Given the description of an element on the screen output the (x, y) to click on. 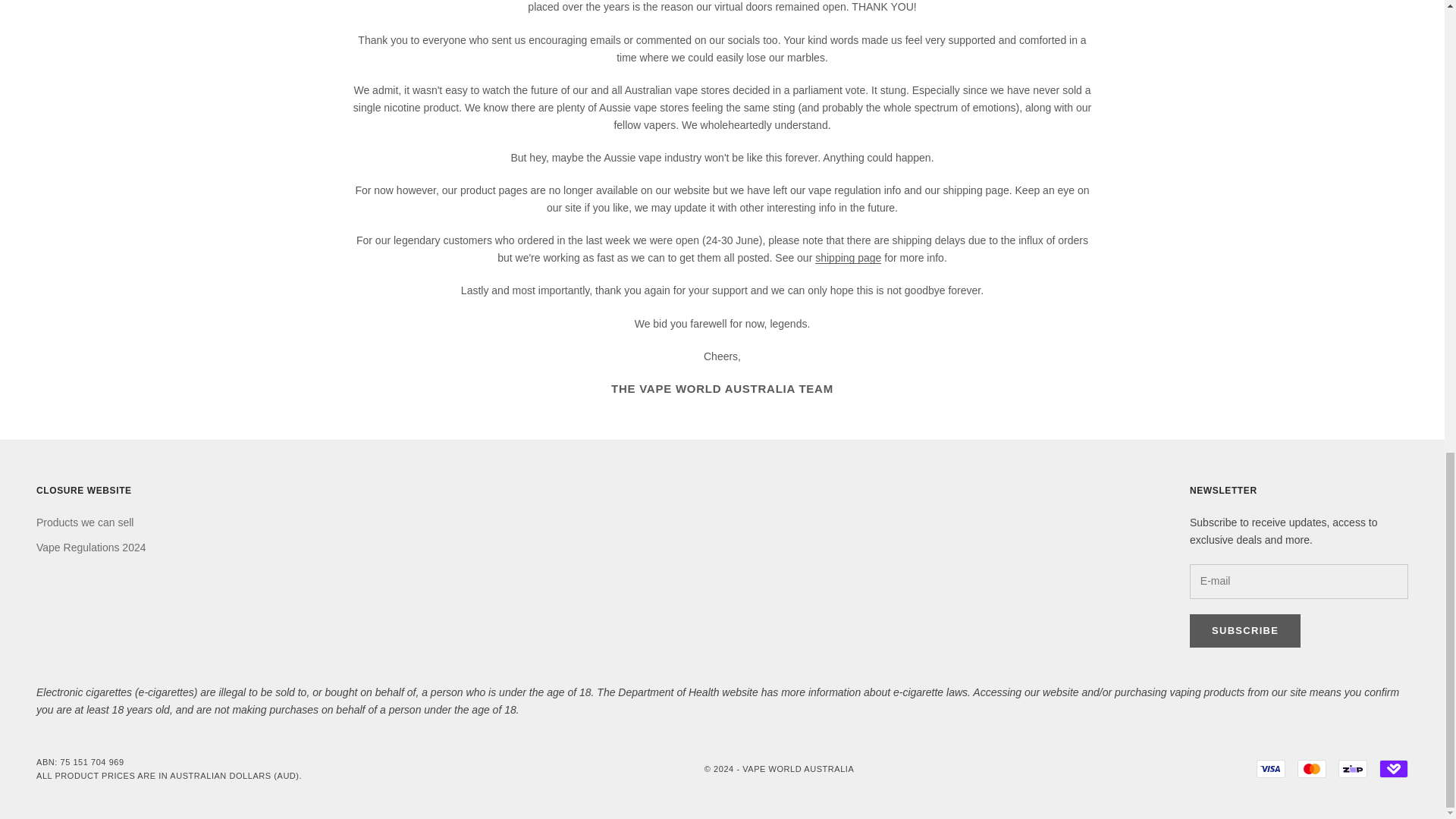
SUBSCRIBE (1244, 630)
Department of Health website (687, 692)
Products we can sell (84, 522)
shipping page (847, 257)
Vape Regulations 2024 (91, 547)
